Given the description of an element on the screen output the (x, y) to click on. 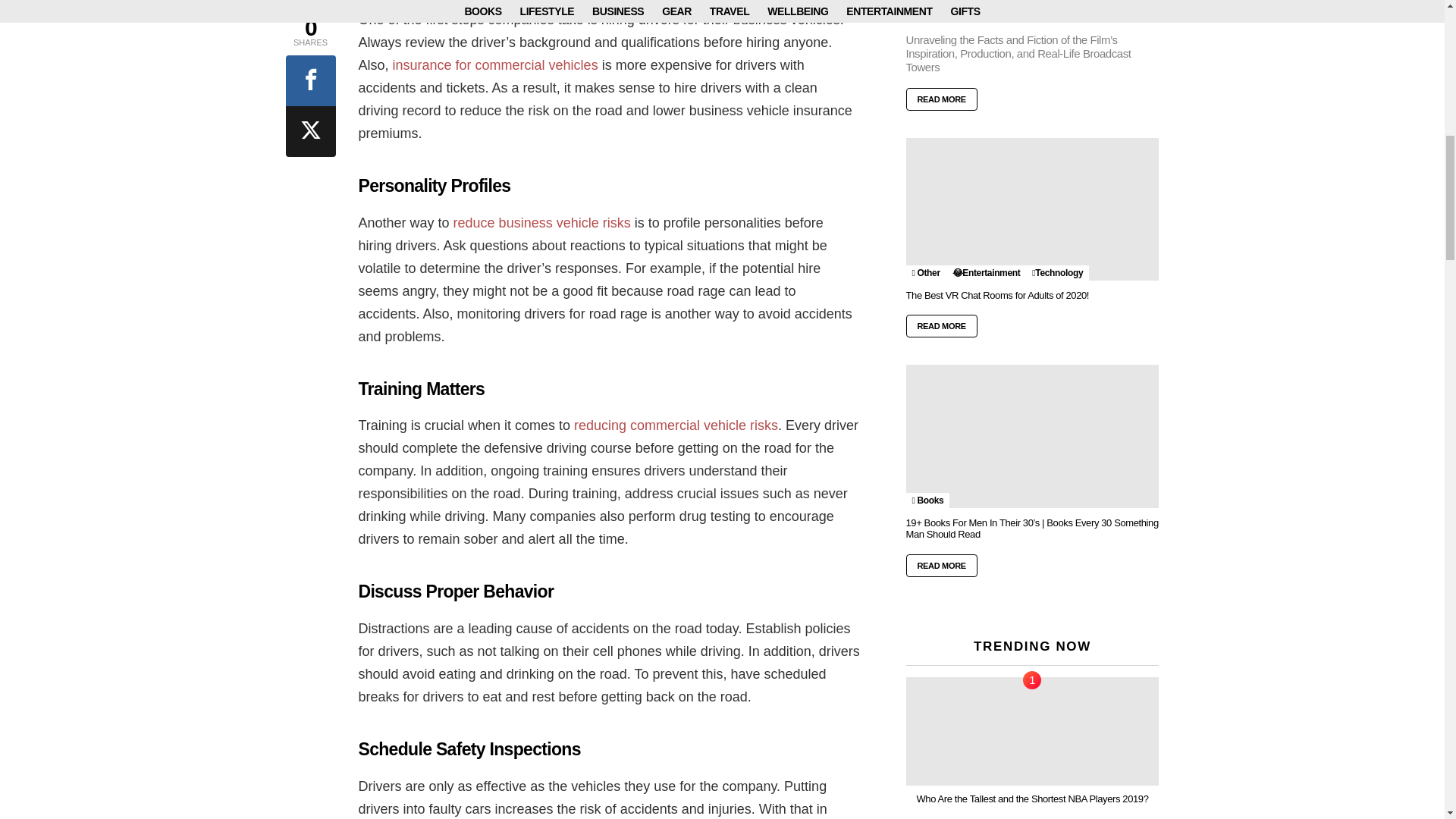
reduce business vehicle risks (541, 222)
insurance for commercial vehicles (495, 64)
reducing commercial vehicle risks (675, 425)
